Given the description of an element on the screen output the (x, y) to click on. 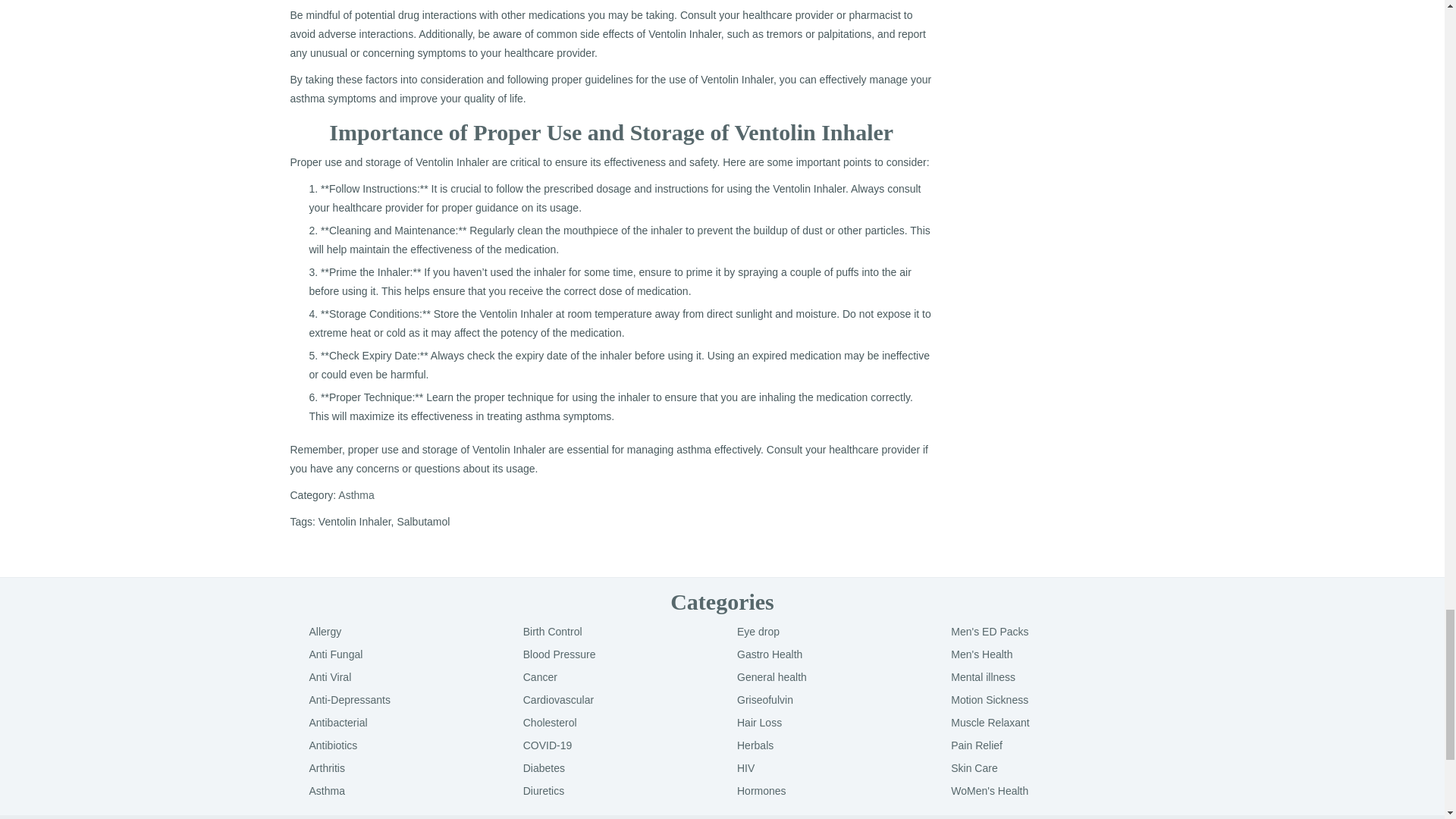
Blood Pressure (558, 654)
Asthma (355, 494)
COVID-19 (547, 745)
Griseofulvin (764, 699)
Antibacterial (338, 722)
Asthma (326, 790)
Birth Control (552, 631)
Cholesterol (549, 722)
Anti Fungal (335, 654)
Allergy (325, 631)
